Given the description of an element on the screen output the (x, y) to click on. 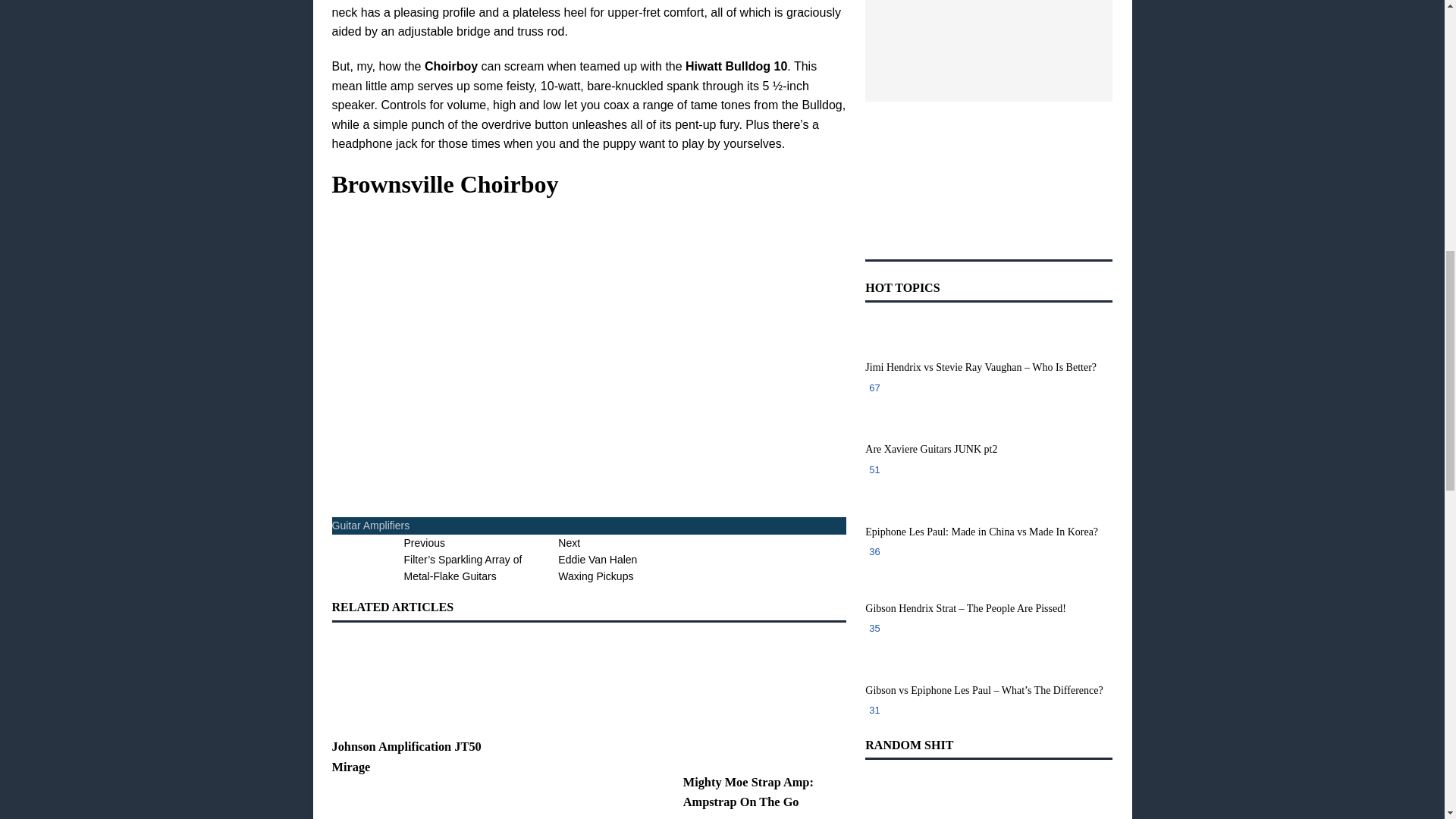
Eddie Van Halen Waxing Pickups 2 (683, 556)
YouTube video player (554, 348)
Johnson Amplification JT50 Mirage (635, 561)
Guitar Amplifiers (413, 681)
Johnson Amplification JT50 Mirage (370, 525)
